Given the description of an element on the screen output the (x, y) to click on. 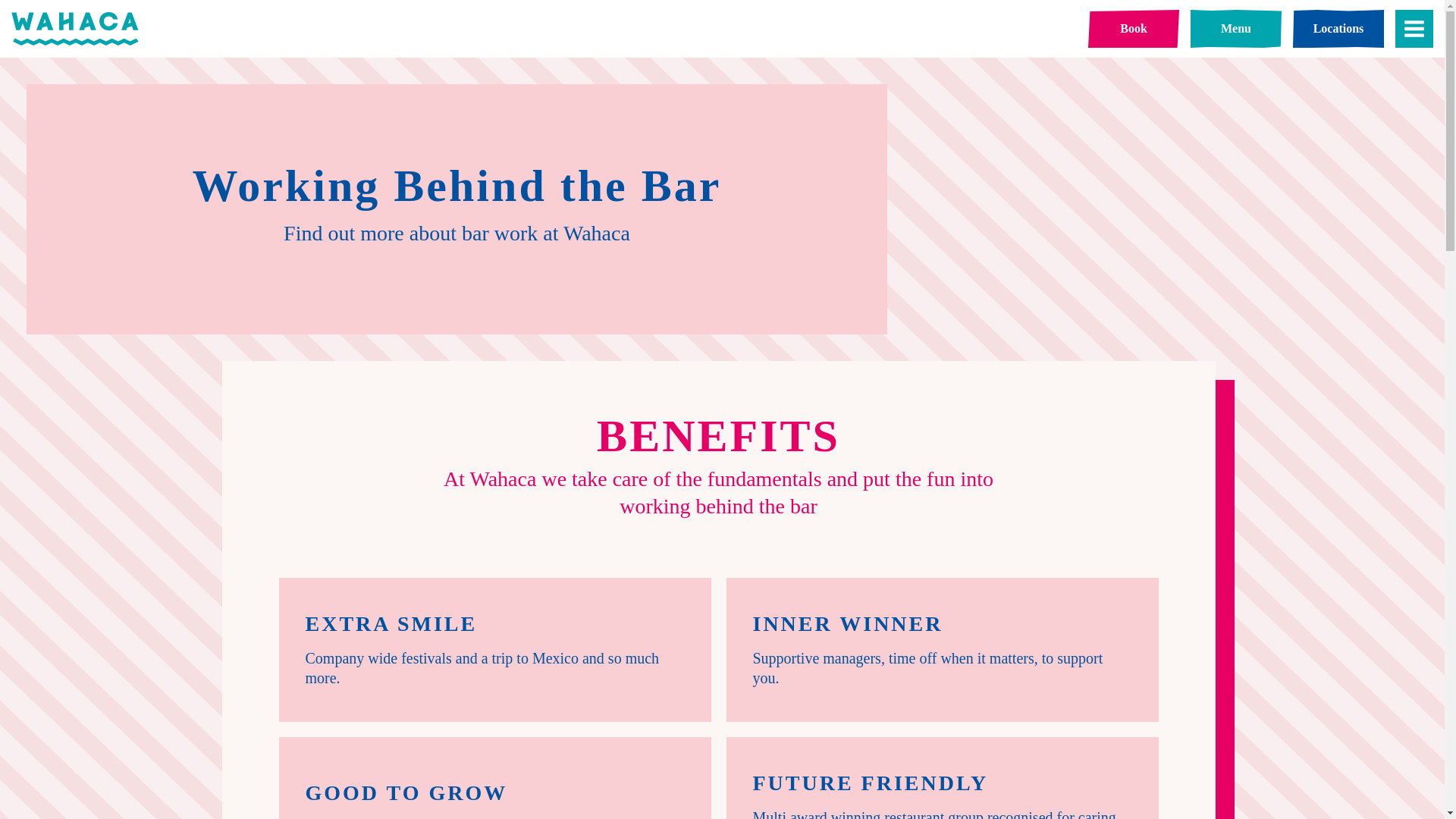
Locations (1338, 28)
Book (1133, 28)
Menu (1236, 28)
